Given the description of an element on the screen output the (x, y) to click on. 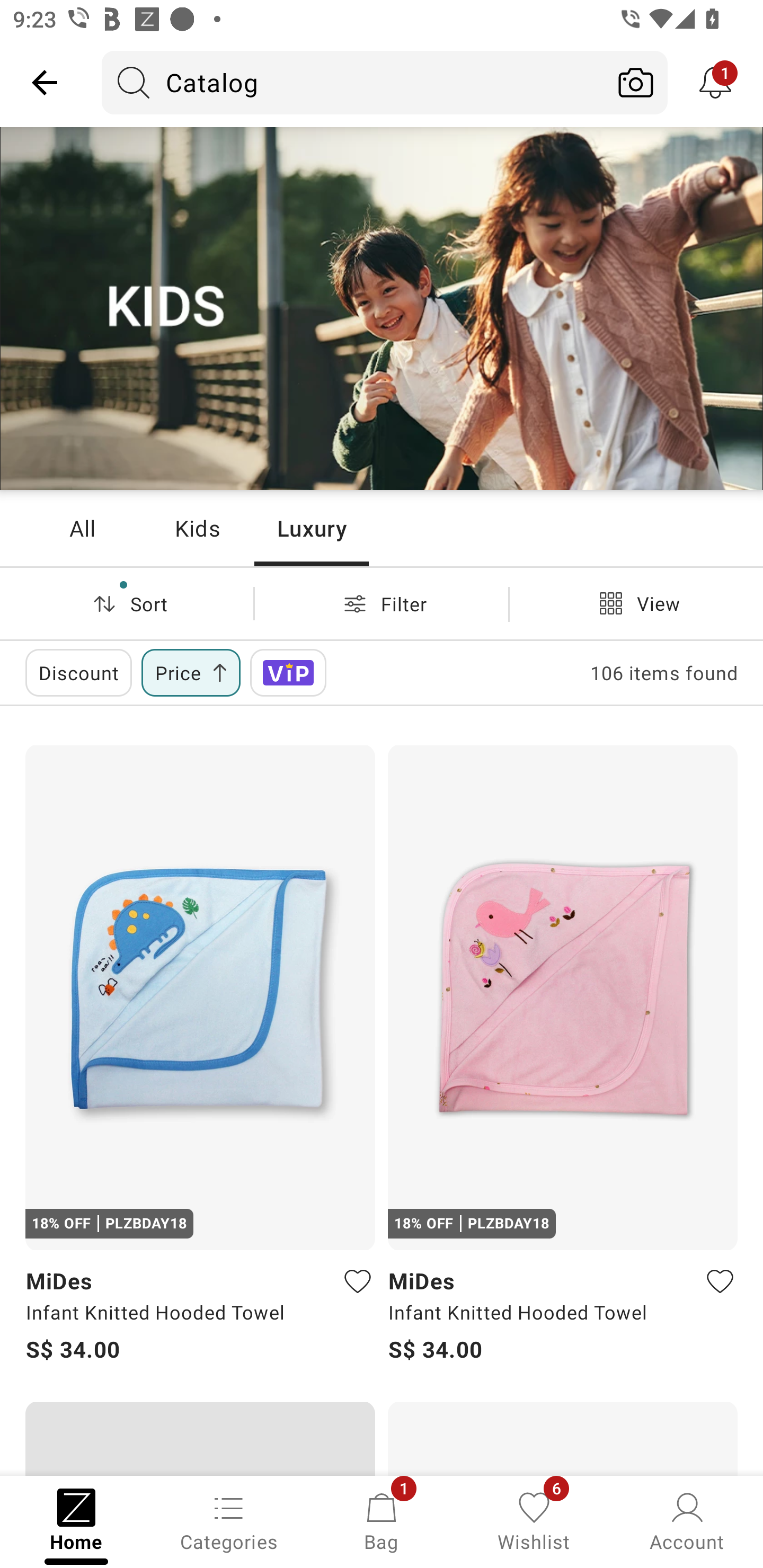
Navigate up (44, 82)
Catalog (352, 82)
All (82, 527)
Kids (196, 527)
Sort (126, 603)
Filter (381, 603)
View (636, 603)
Discount (78, 672)
Price (190, 672)
Categories (228, 1519)
Bag, 1 new notification Bag (381, 1519)
Wishlist, 6 new notifications Wishlist (533, 1519)
Account (686, 1519)
